Given the description of an element on the screen output the (x, y) to click on. 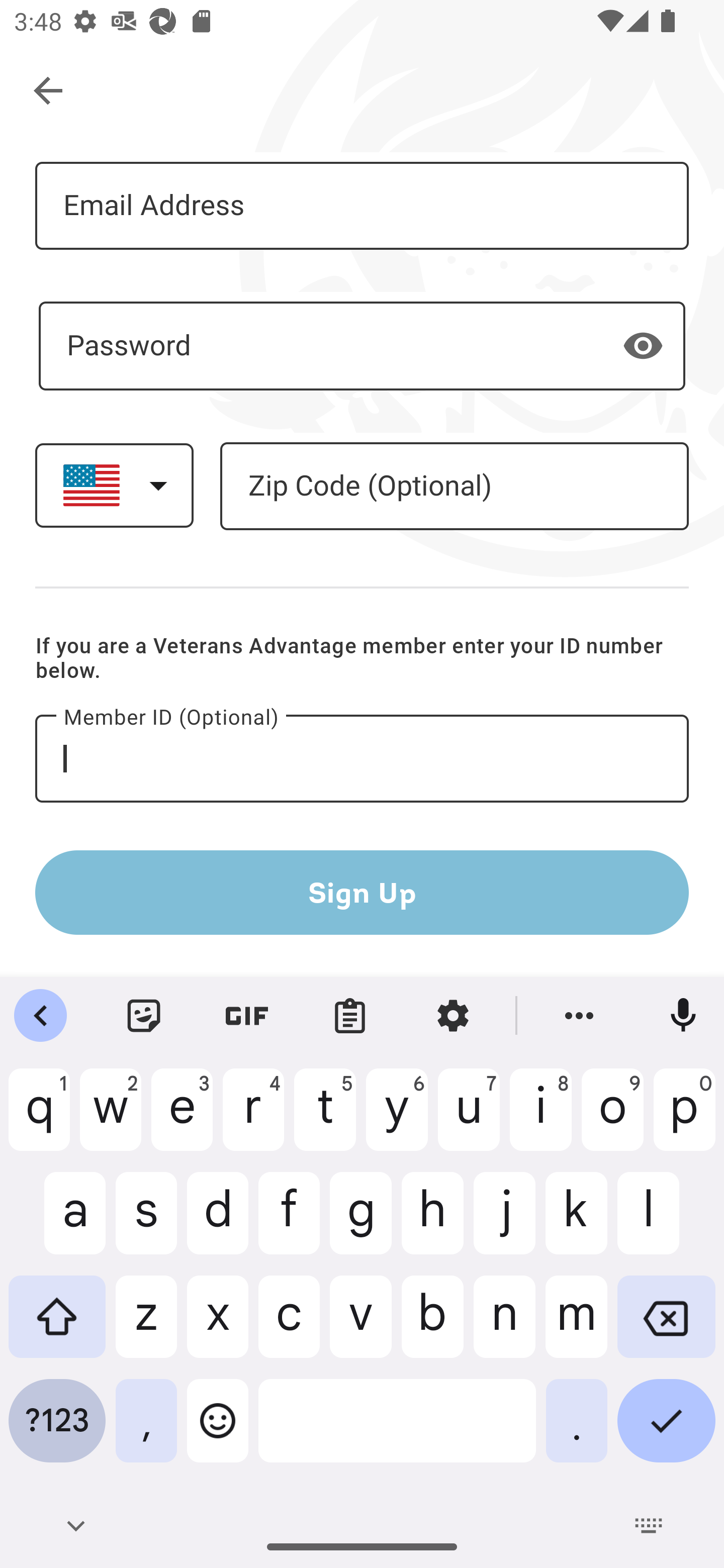
Navigate up (49, 91)
Email Address - Required (361, 205)
- Required (361, 345)
Show password (642, 345)
Zip Code – Optional (454, 485)
Select a country. United States selected. (114, 485)
Veterans Advantage ID – Optional (361, 758)
Sign Up (361, 891)
